Given the description of an element on the screen output the (x, y) to click on. 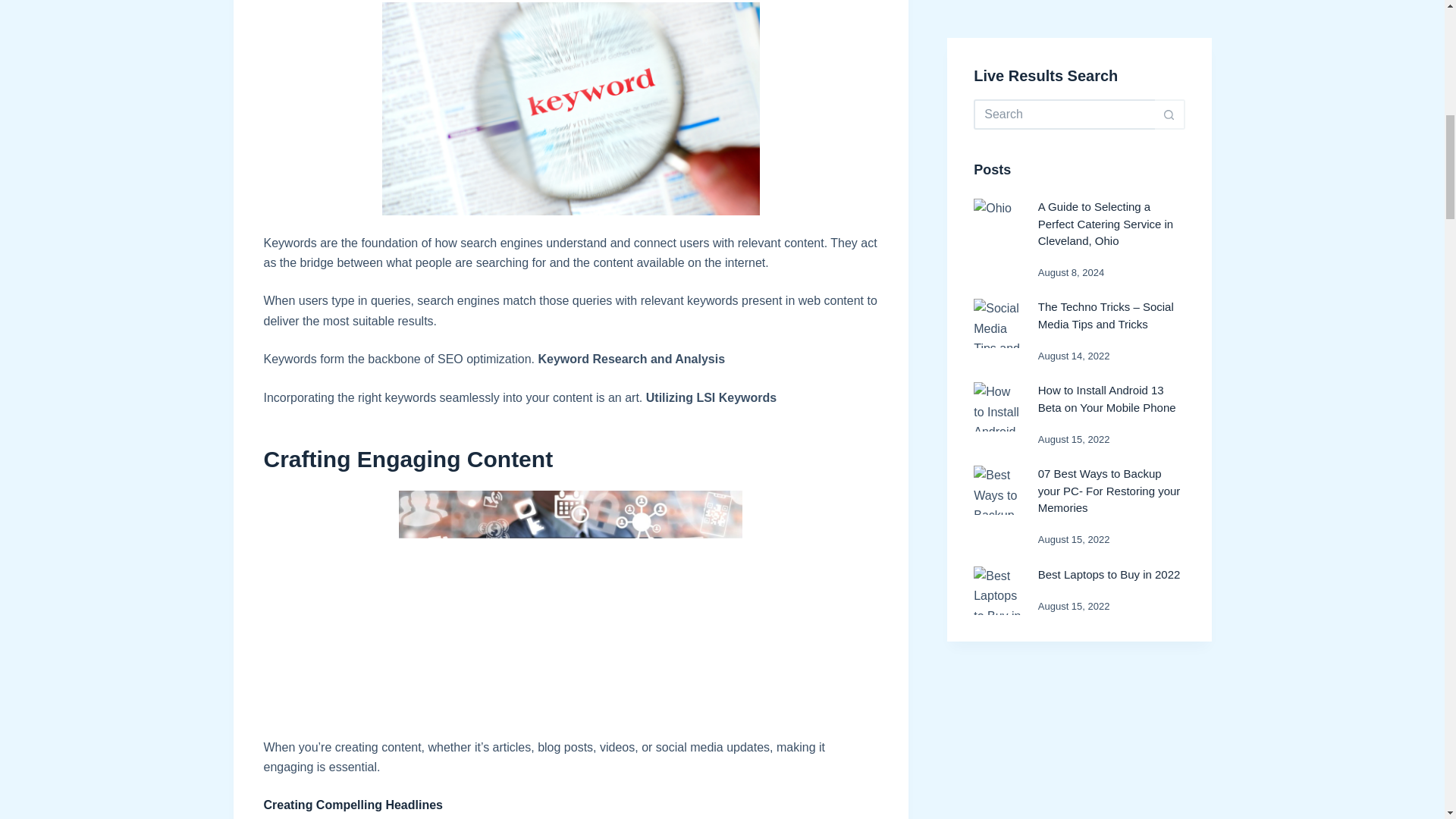
07 Best Ways to Backup your PC- For Restoring your Memories (1109, 164)
Best Laptops to Buy in 2022 (1109, 247)
How to Install Android 13 Beta on Your Mobile Phone (1107, 72)
